Given the description of an element on the screen output the (x, y) to click on. 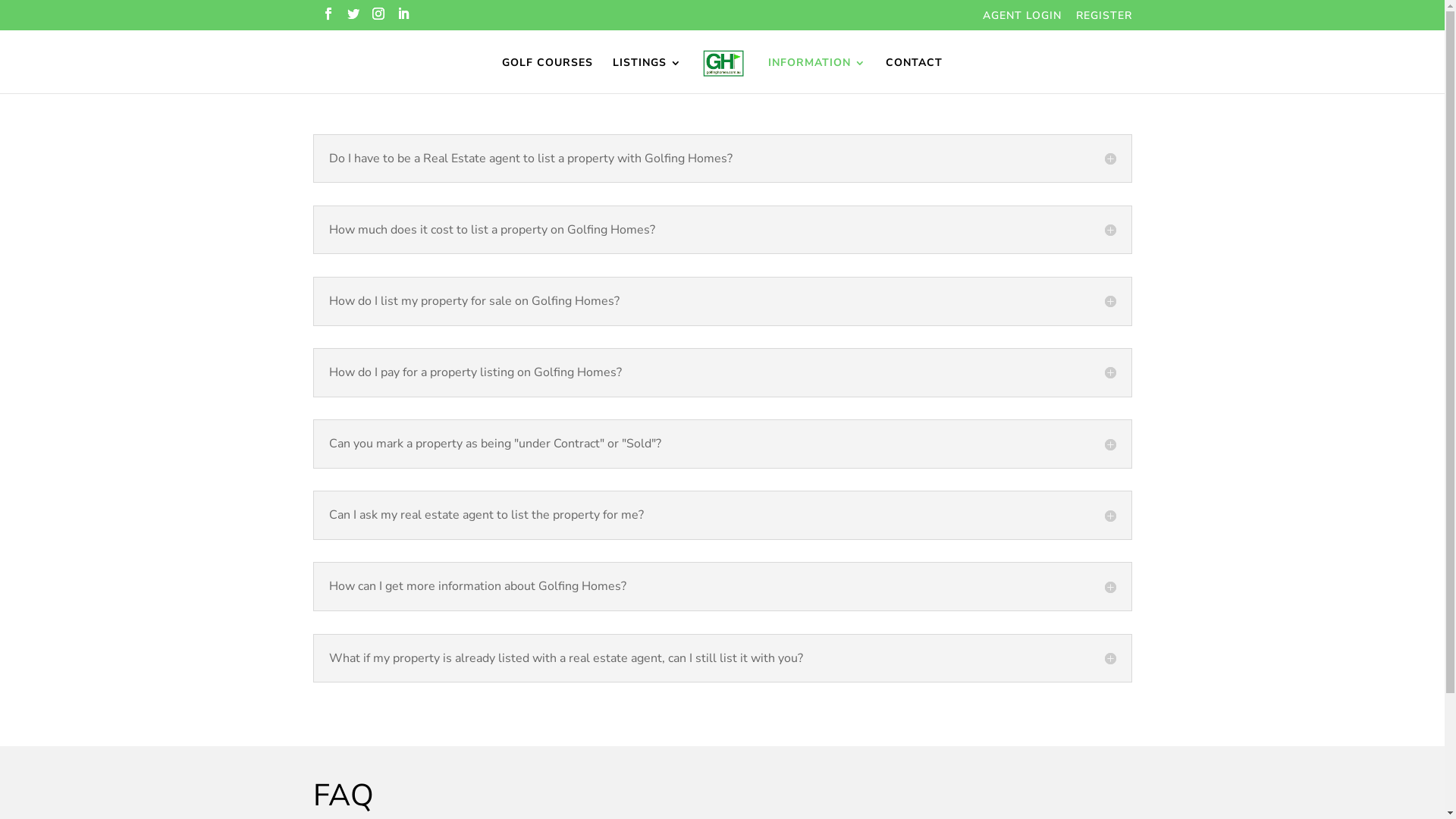
INFORMATION Element type: text (817, 75)
CONTACT Element type: text (913, 75)
LISTINGS Element type: text (646, 75)
AGENT LOGIN Element type: text (1021, 19)
REGISTER Element type: text (1103, 19)
